Given the description of an element on the screen output the (x, y) to click on. 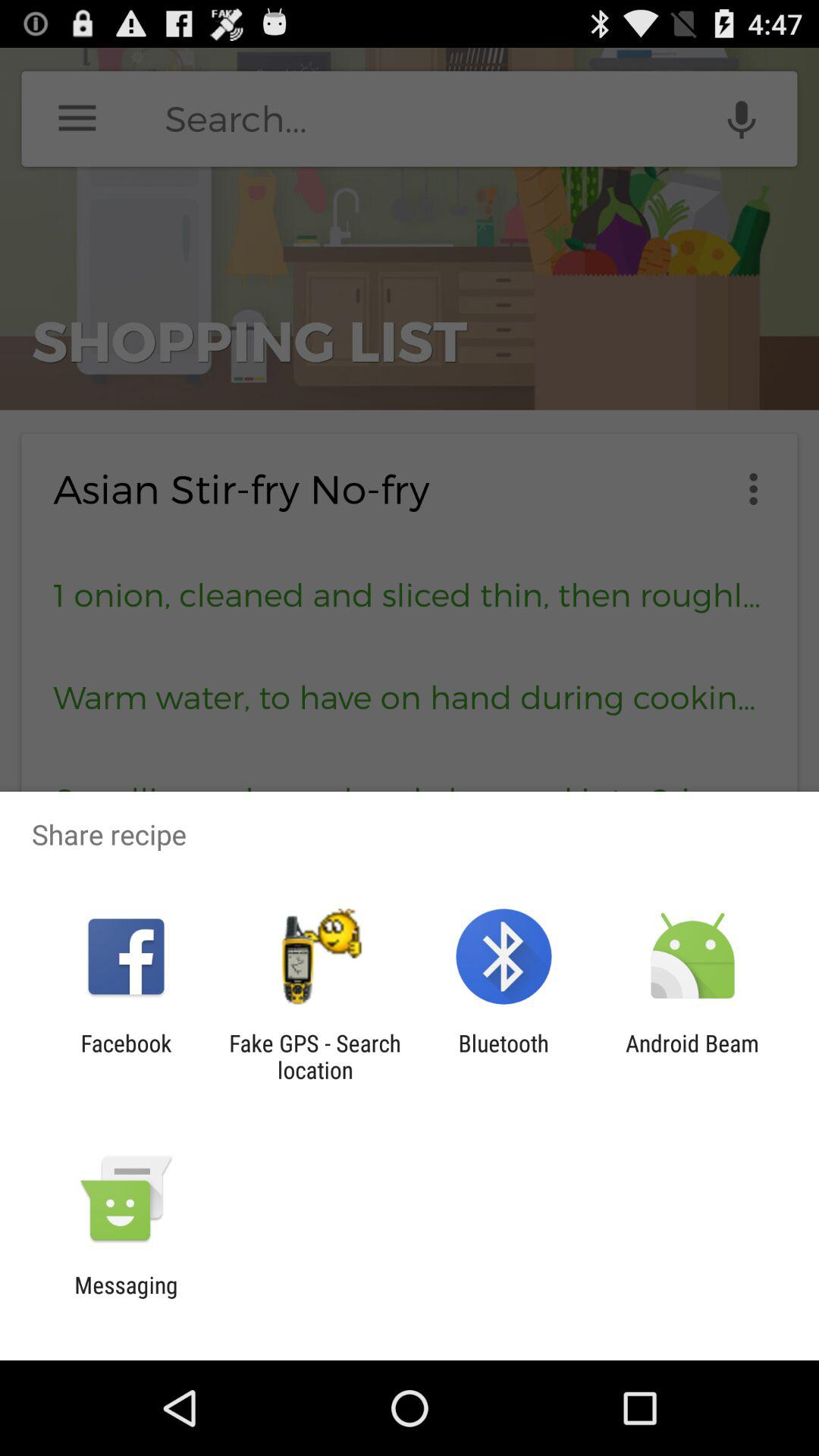
swipe to the fake gps search app (314, 1056)
